Given the description of an element on the screen output the (x, y) to click on. 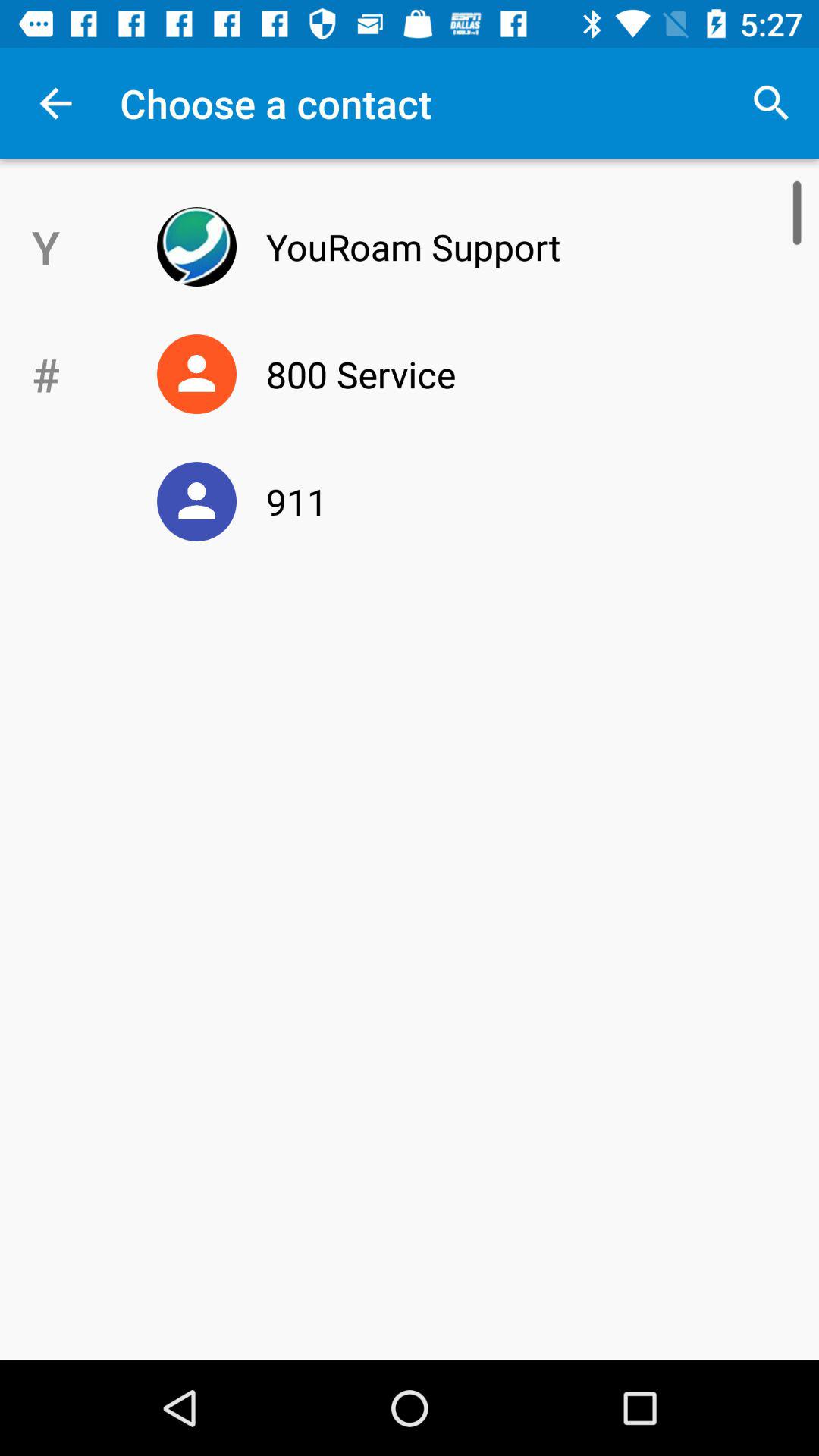
turn off the item to the right of the choose a contact app (771, 103)
